Given the description of an element on the screen output the (x, y) to click on. 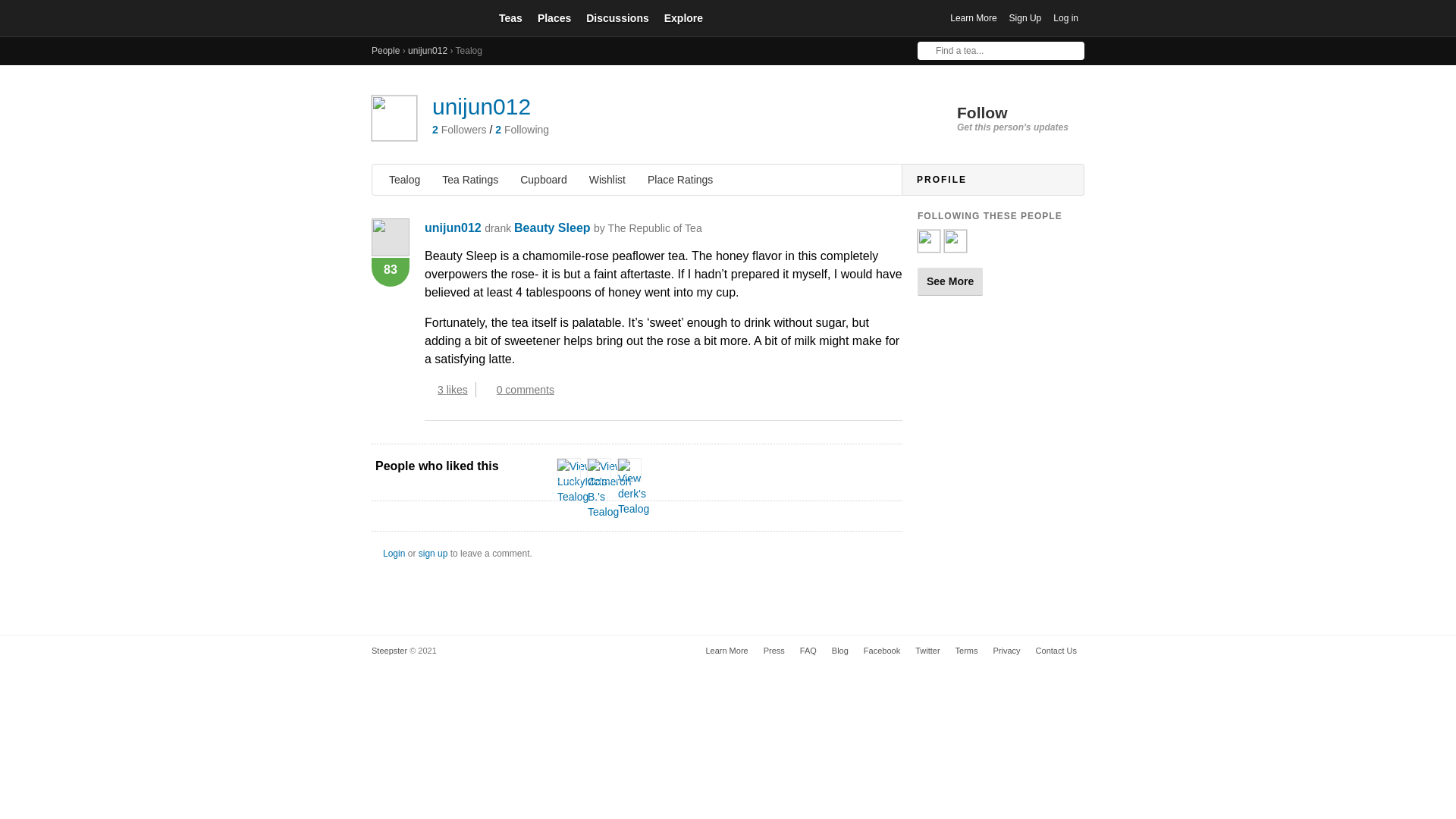
People (384, 50)
3 likes (997, 117)
Explore (457, 389)
Login (683, 17)
Sign Up (393, 552)
Link to Privacy Policy (1025, 18)
See More (1006, 650)
0 comments (949, 281)
Link to the Official Steepster Blog (522, 389)
Places (840, 650)
Beauty Sleep by The Republic of Tea (553, 17)
View tea-overlord's Tealog (607, 227)
Link to Terms of Use (954, 245)
unijun012 (966, 650)
